Given the description of an element on the screen output the (x, y) to click on. 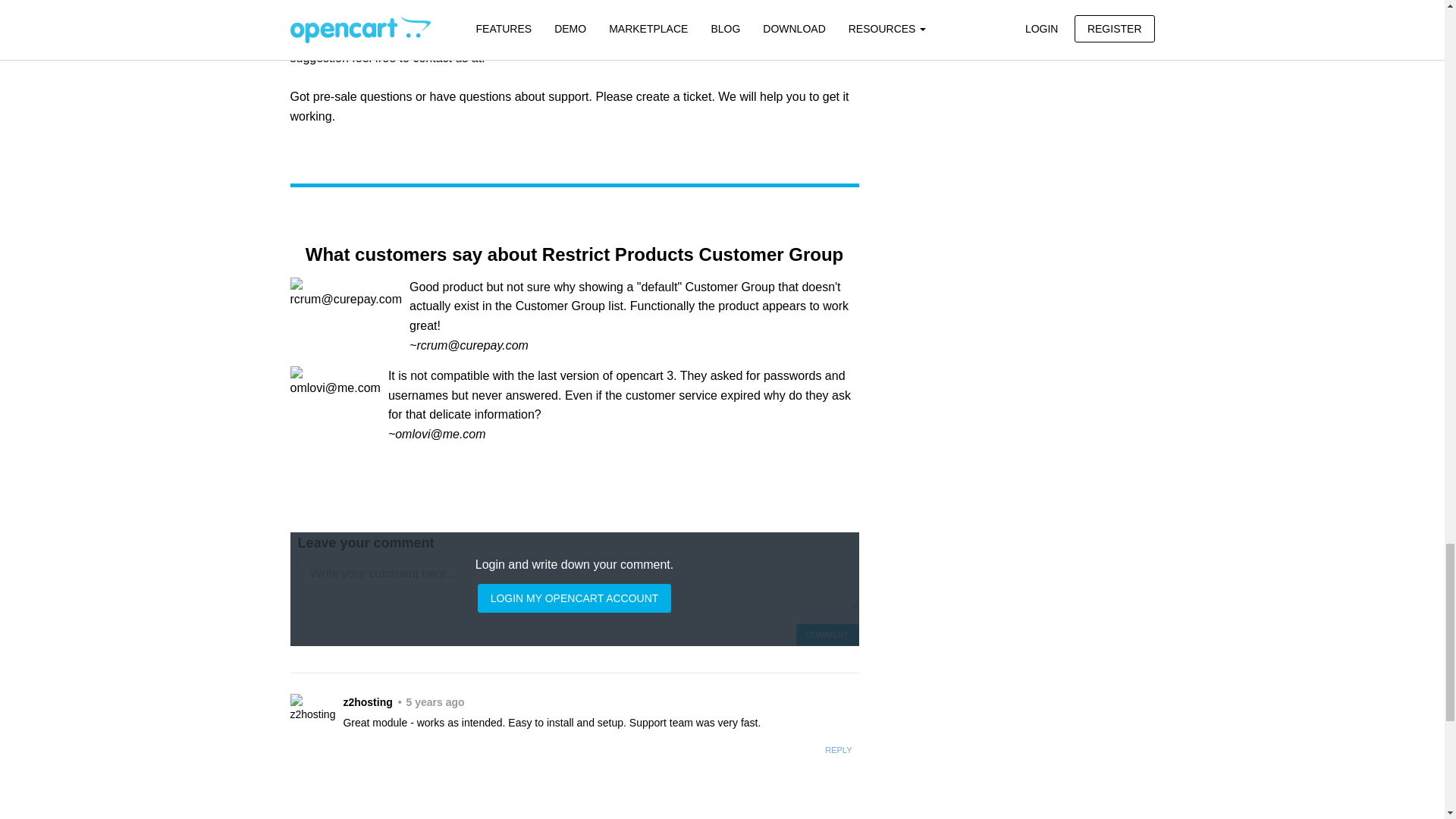
COMMENT (827, 635)
LOGIN MY OPENCART ACCOUNT (574, 597)
REPLY (838, 750)
z2hosting (311, 707)
